Given the description of an element on the screen output the (x, y) to click on. 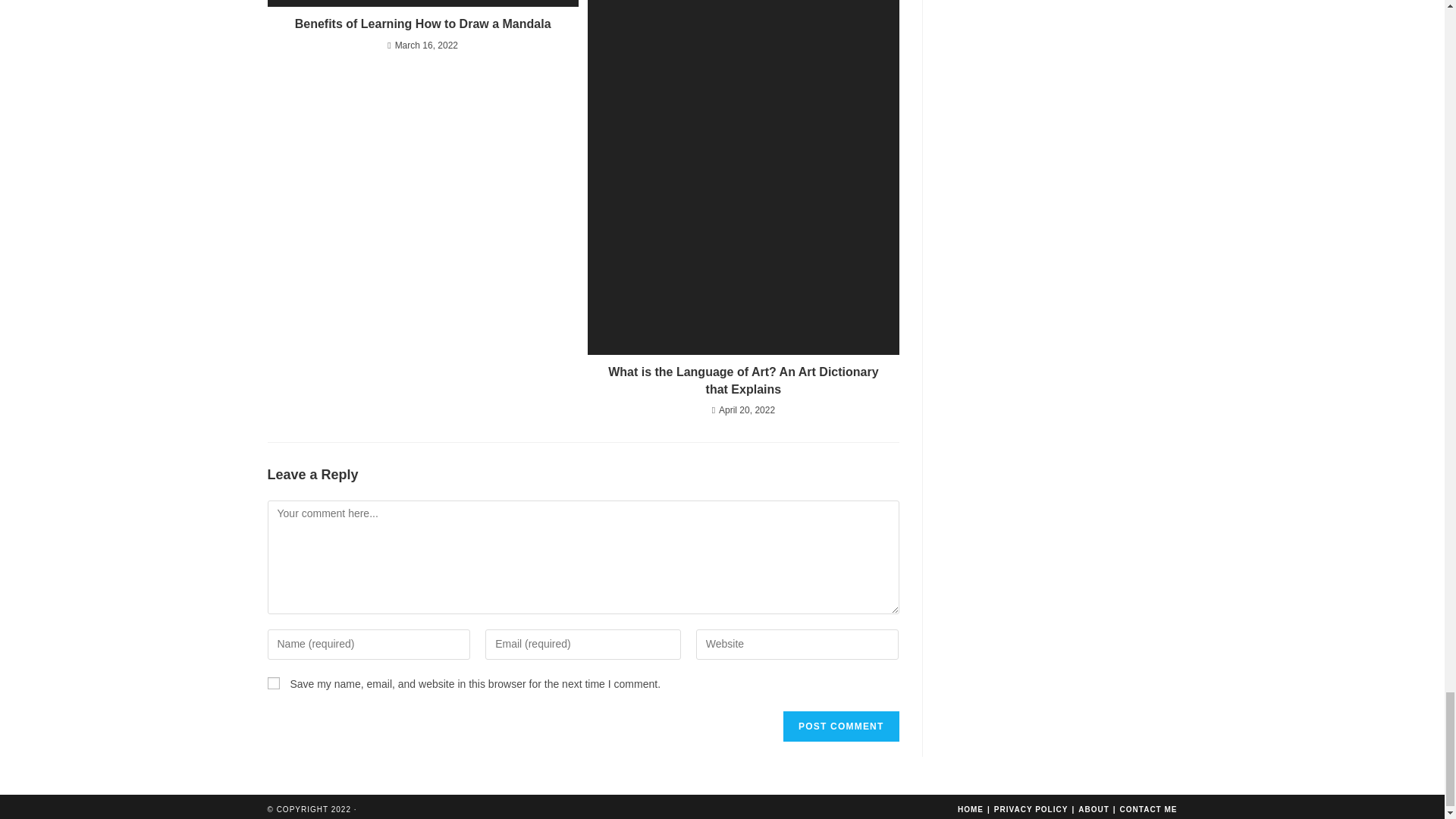
CONTACT ME (1148, 809)
Post Comment (840, 726)
Benefits of Learning How to Draw a Mandala (422, 23)
PRIVACY POLICY (1031, 809)
HOME (971, 809)
What is the Language of Art? An Art Dictionary that Explains (742, 380)
Benefits of Learning How to Draw a Mandala 2 (422, 3)
Post Comment (840, 726)
ABOUT (1093, 809)
yes (272, 683)
